Given the description of an element on the screen output the (x, y) to click on. 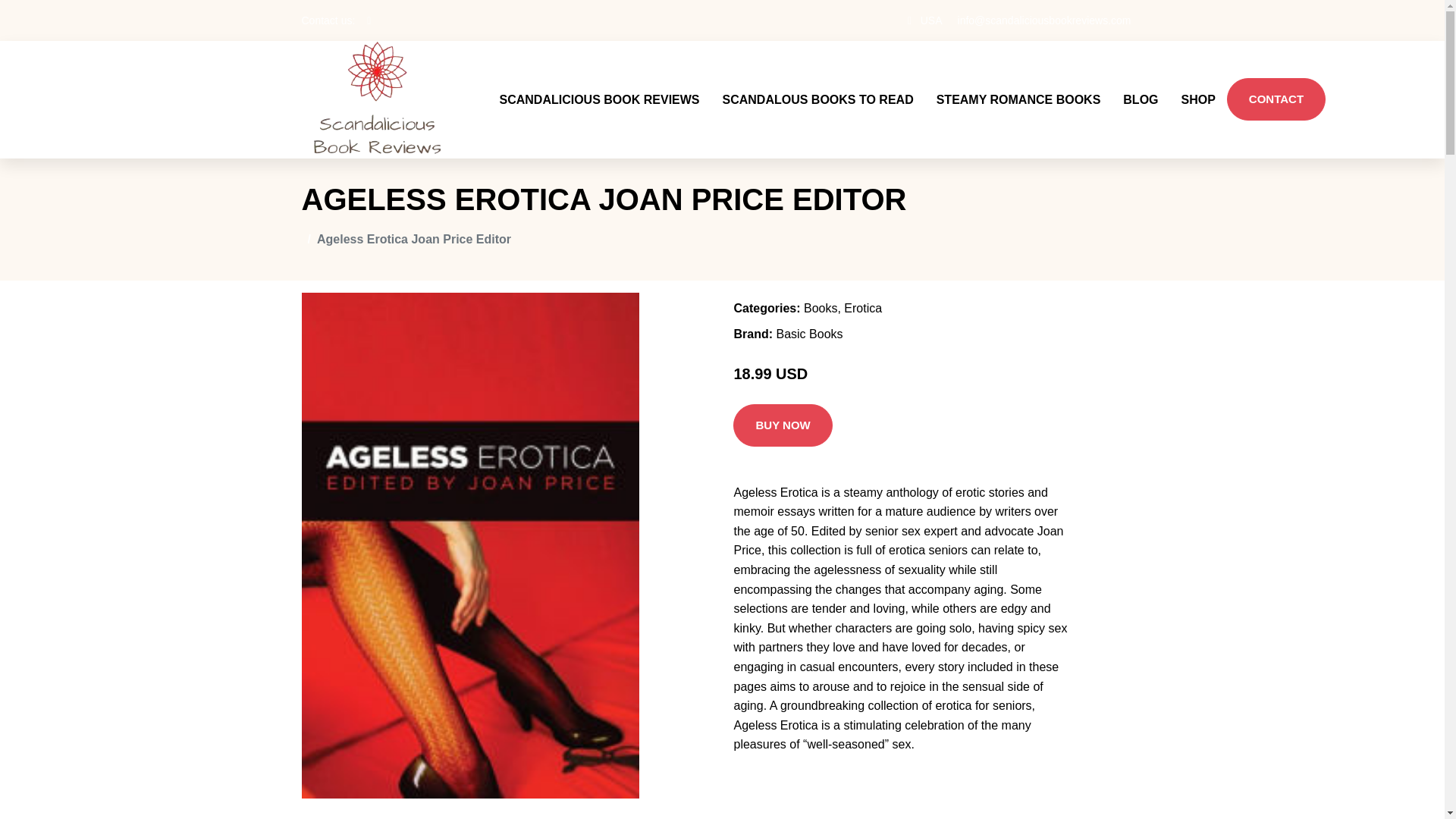
SCANDALOUS BOOKS TO READ (817, 99)
SCANDALICIOUS BOOK REVIEWS (599, 99)
USA (931, 20)
Books (820, 308)
CONTACT (1275, 98)
Erotica (863, 308)
BUY NOW (782, 425)
STEAMY ROMANCE BOOKS (1018, 99)
